Given the description of an element on the screen output the (x, y) to click on. 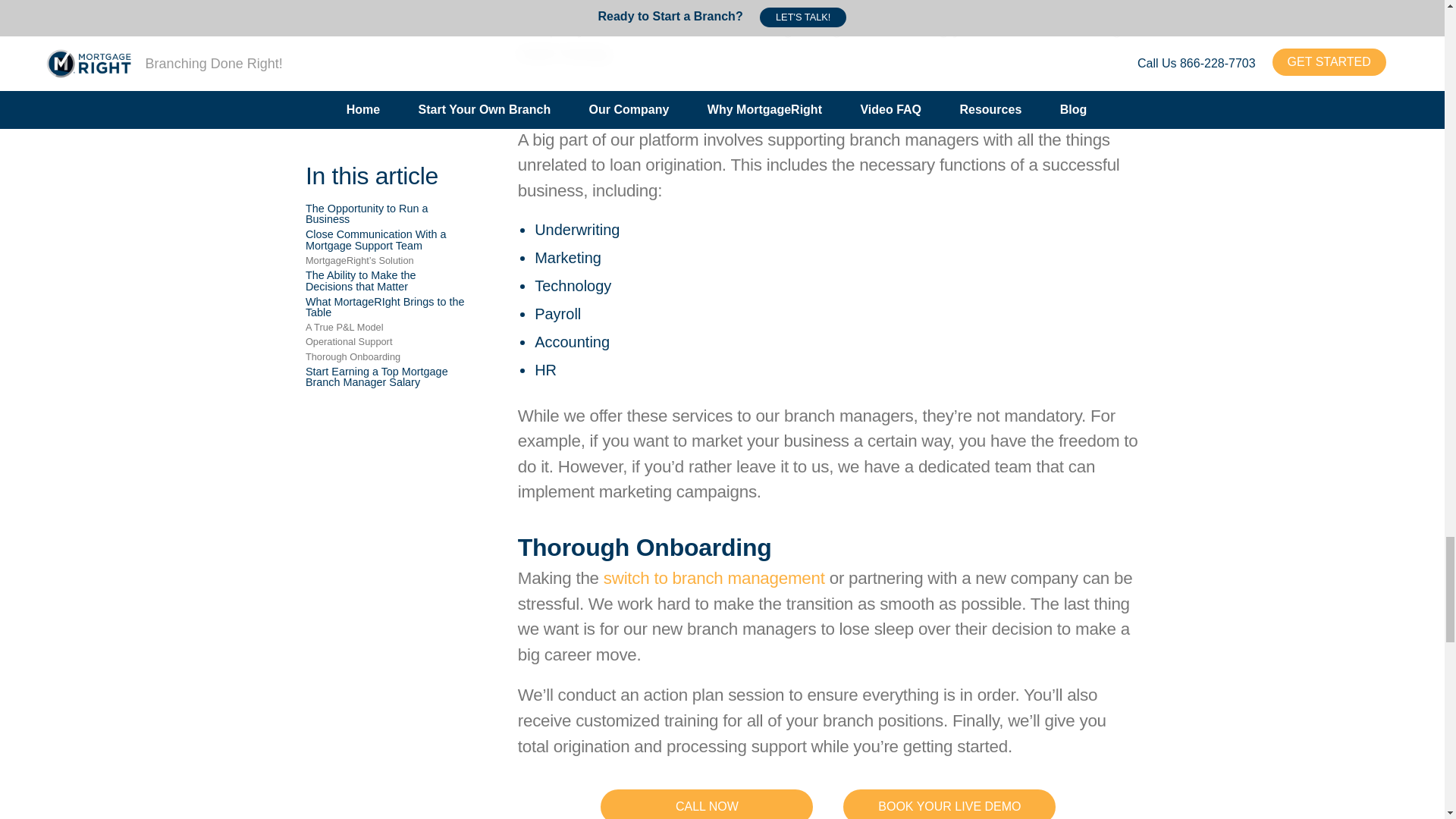
BOOK YOUR LIVE DEMO (949, 804)
switch to branch management (714, 578)
CALL NOW (705, 804)
